Given the description of an element on the screen output the (x, y) to click on. 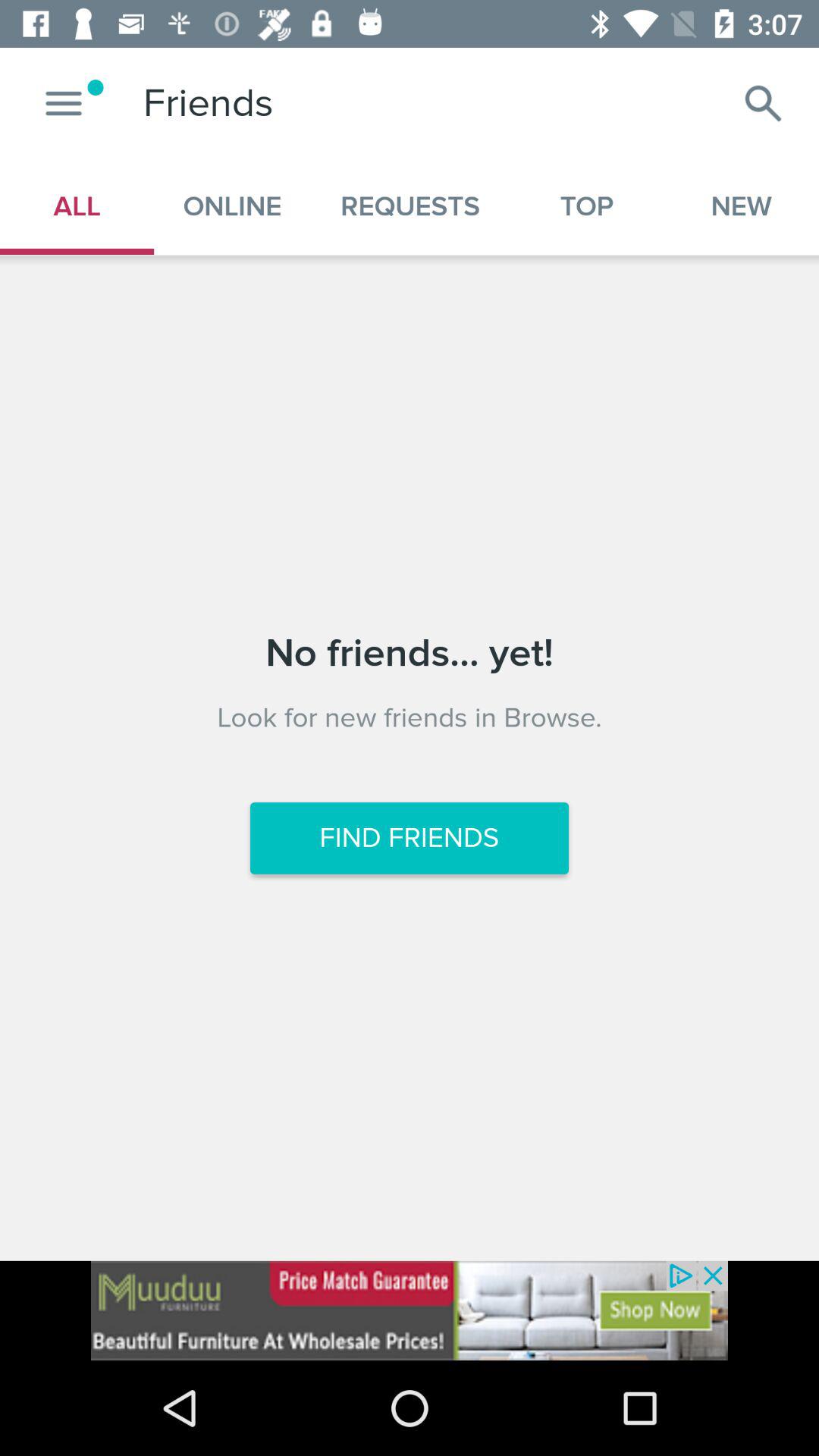
add the option (409, 1310)
